Given the description of an element on the screen output the (x, y) to click on. 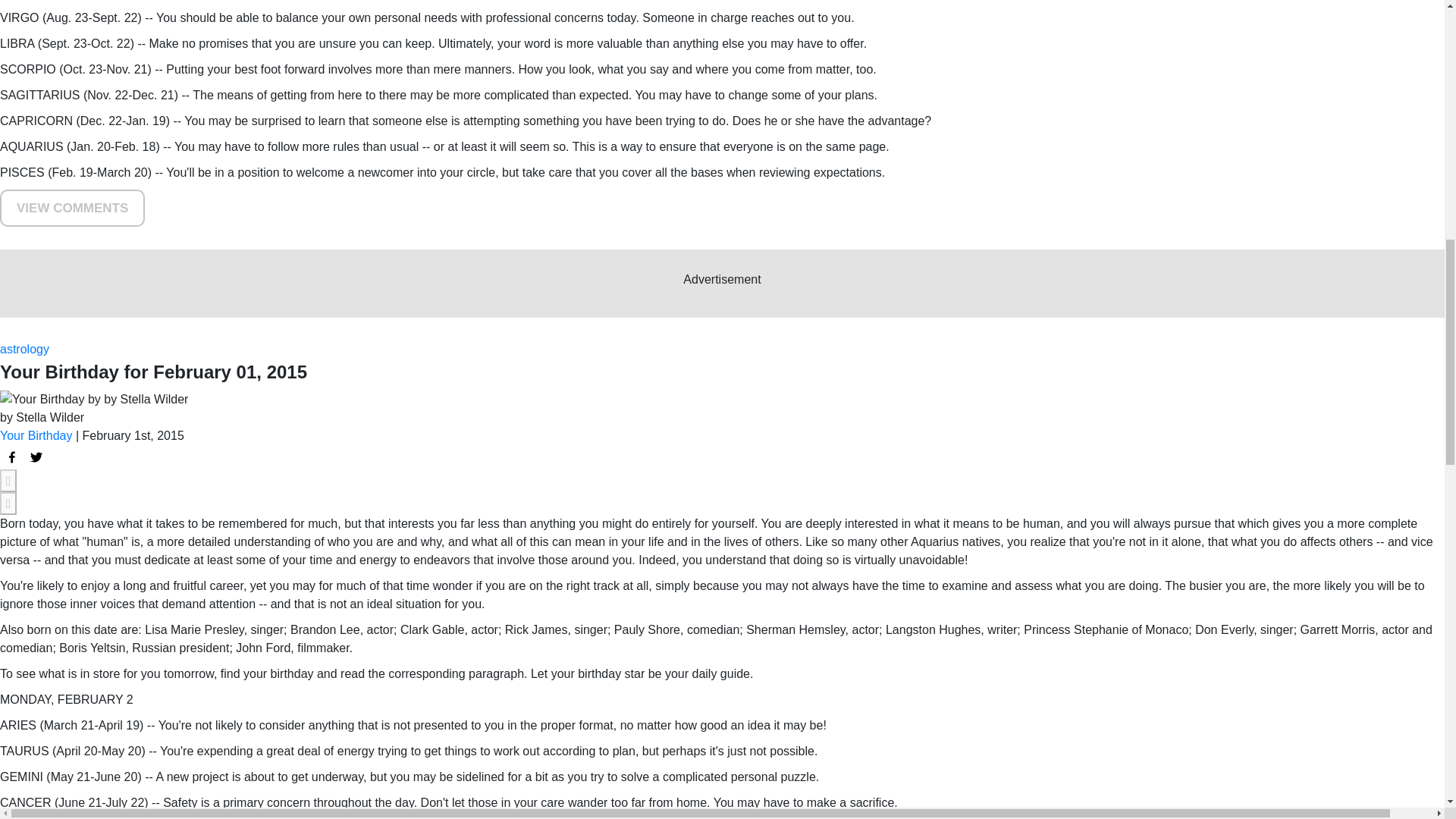
astrology (24, 349)
Your Birthday (35, 435)
VIEW COMMENTS (72, 208)
Your Birthday for February 01, 2015 (12, 457)
